Given the description of an element on the screen output the (x, y) to click on. 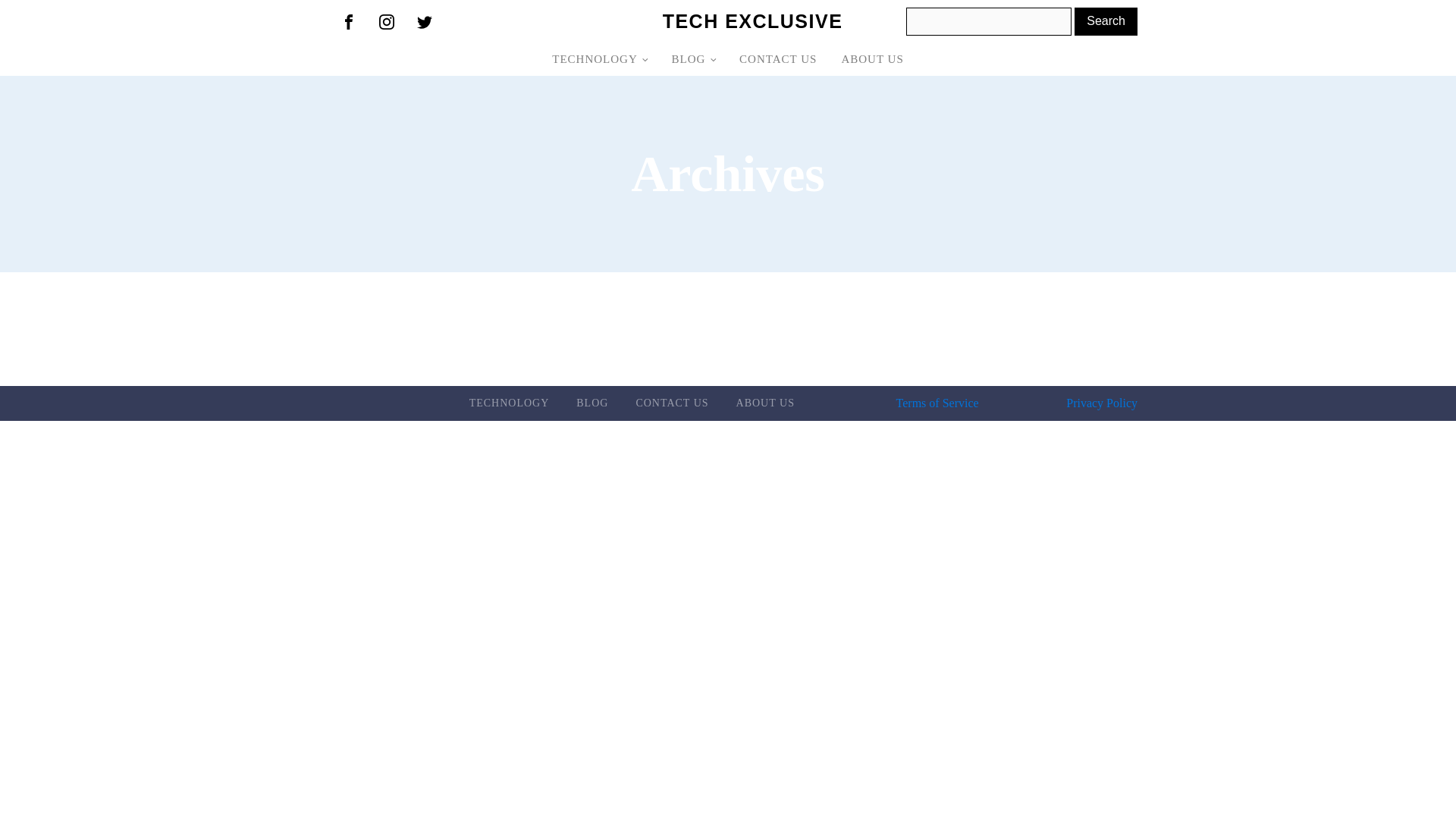
CONTACT US (671, 402)
BLOG (693, 59)
CONTACT US (777, 59)
ABOUT US (765, 402)
TECHNOLOGY (509, 402)
Search (1105, 21)
TECHNOLOGY (599, 59)
Privacy Policy (1101, 403)
Terms of Service (937, 403)
Search (1105, 21)
BLOG (591, 402)
TECH EXCLUSIVE (752, 21)
ABOUT US (871, 59)
